Given the description of an element on the screen output the (x, y) to click on. 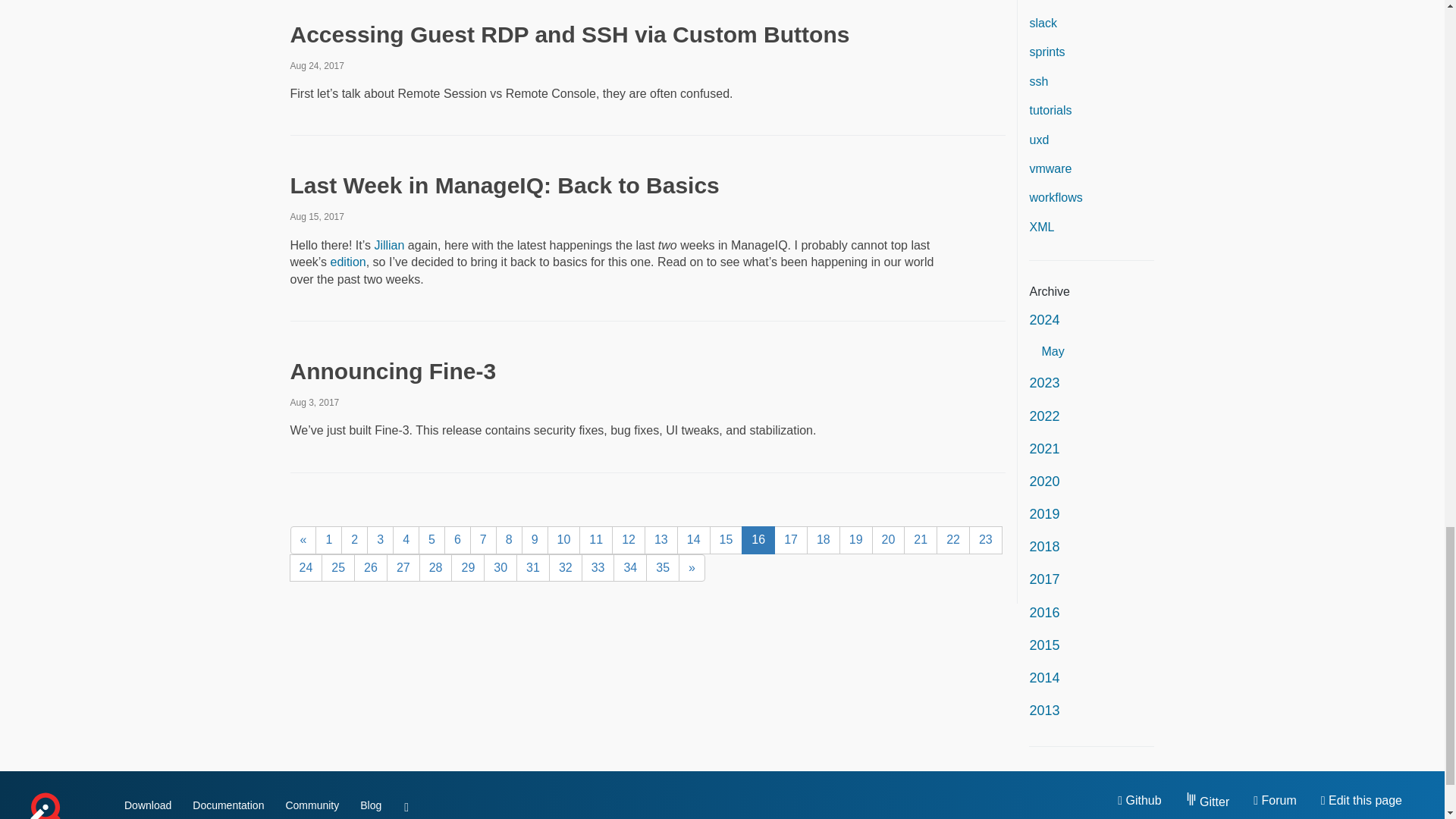
4 (406, 540)
Announcing Fine-3 (392, 371)
Last Week in ManageIQ: Back to Basics (504, 185)
2 (354, 540)
5 (432, 540)
Accessing Guest RDP and SSH via Custom Buttons (568, 34)
Jillian (389, 245)
edition (348, 261)
6 (457, 540)
1 (328, 540)
3 (379, 540)
